Given the description of an element on the screen output the (x, y) to click on. 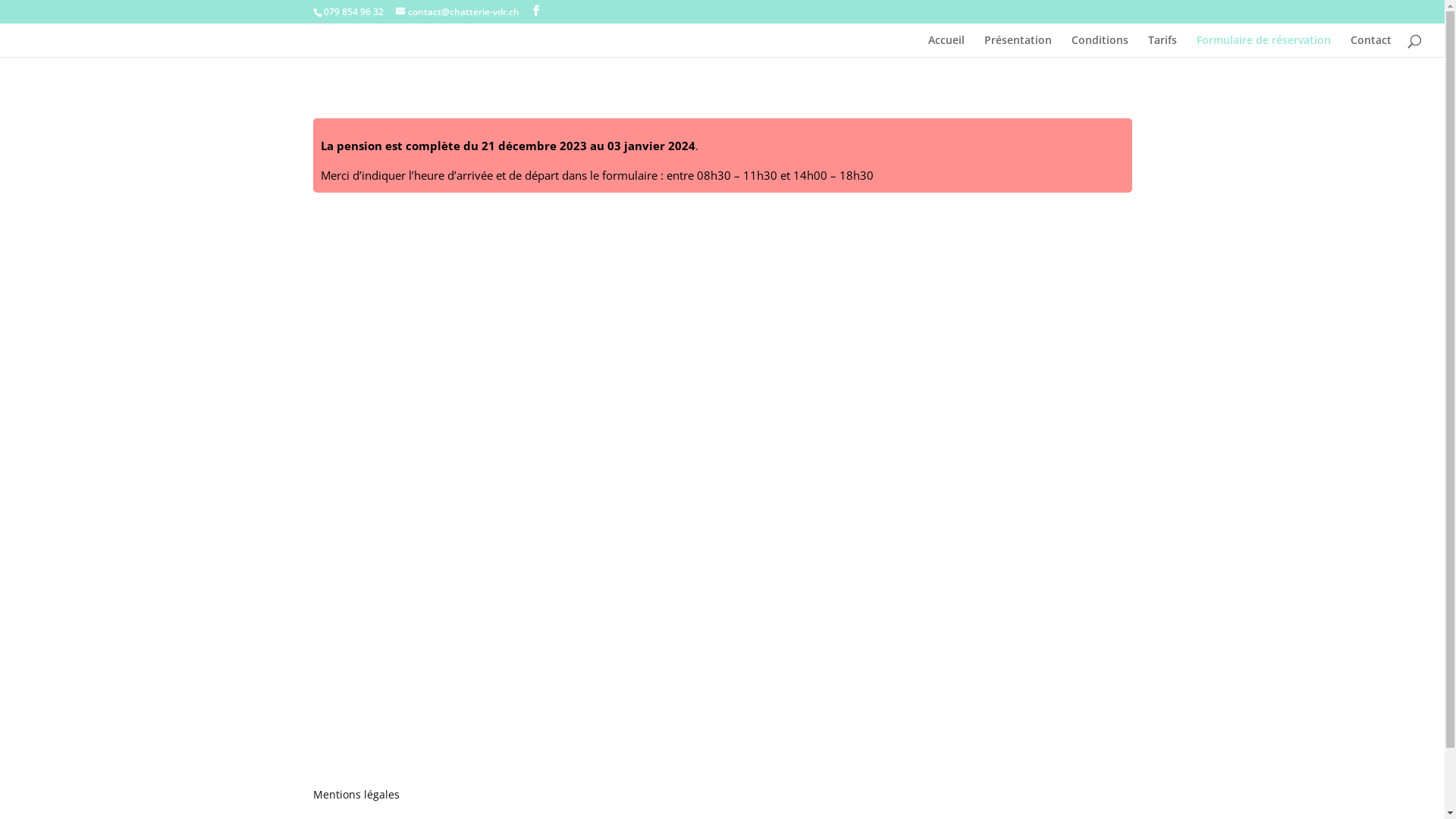
Tarifs Element type: text (1162, 45)
Accueil Element type: text (946, 45)
contact@chatterie-vdr.ch Element type: text (457, 11)
Conditions Element type: text (1099, 45)
Contact Element type: text (1370, 45)
